Given the description of an element on the screen output the (x, y) to click on. 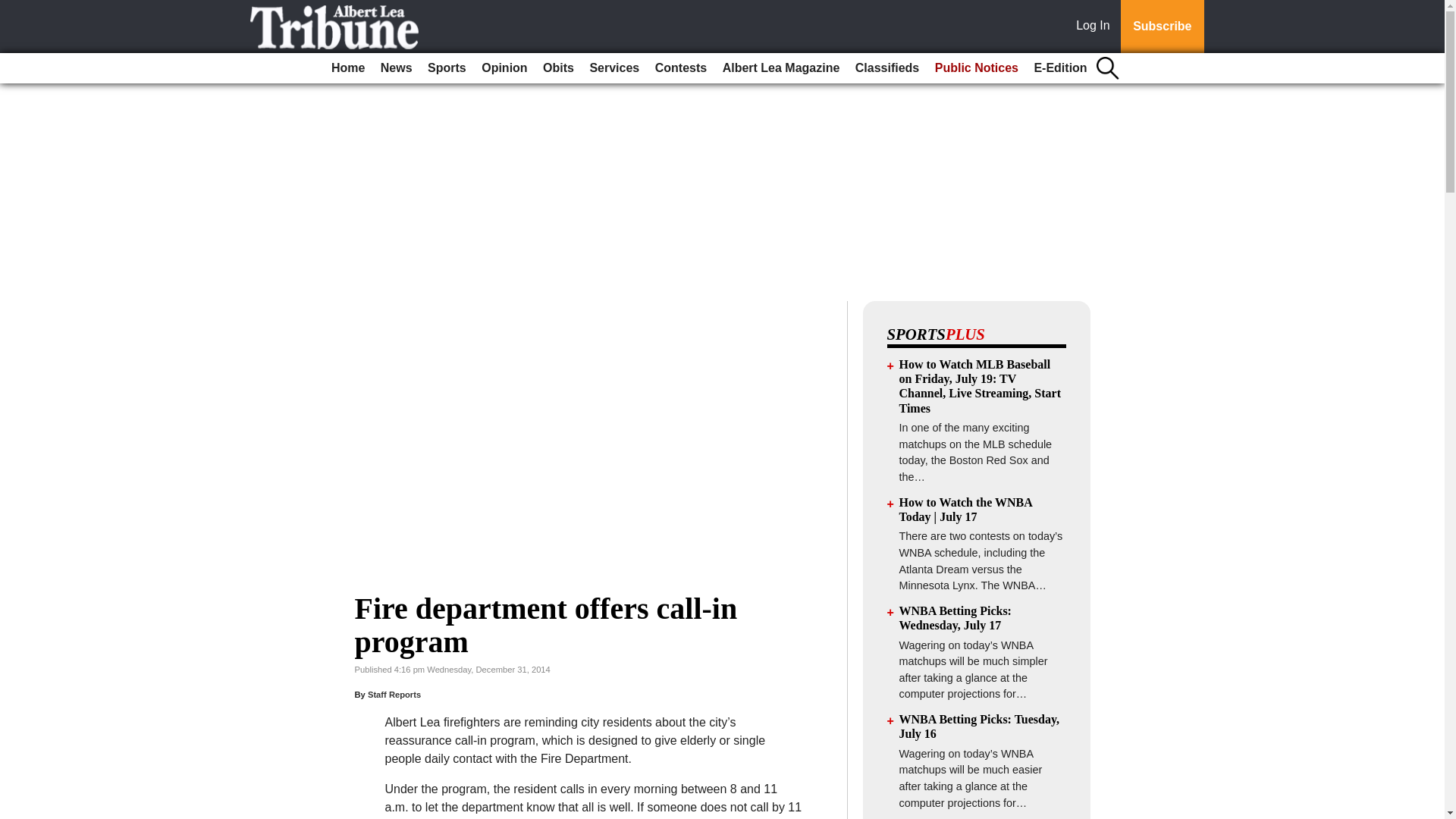
News (396, 68)
Opinion (504, 68)
Sports (446, 68)
Log In (1095, 26)
Home (347, 68)
Services (614, 68)
Subscribe (1162, 26)
Obits (558, 68)
